Given the description of an element on the screen output the (x, y) to click on. 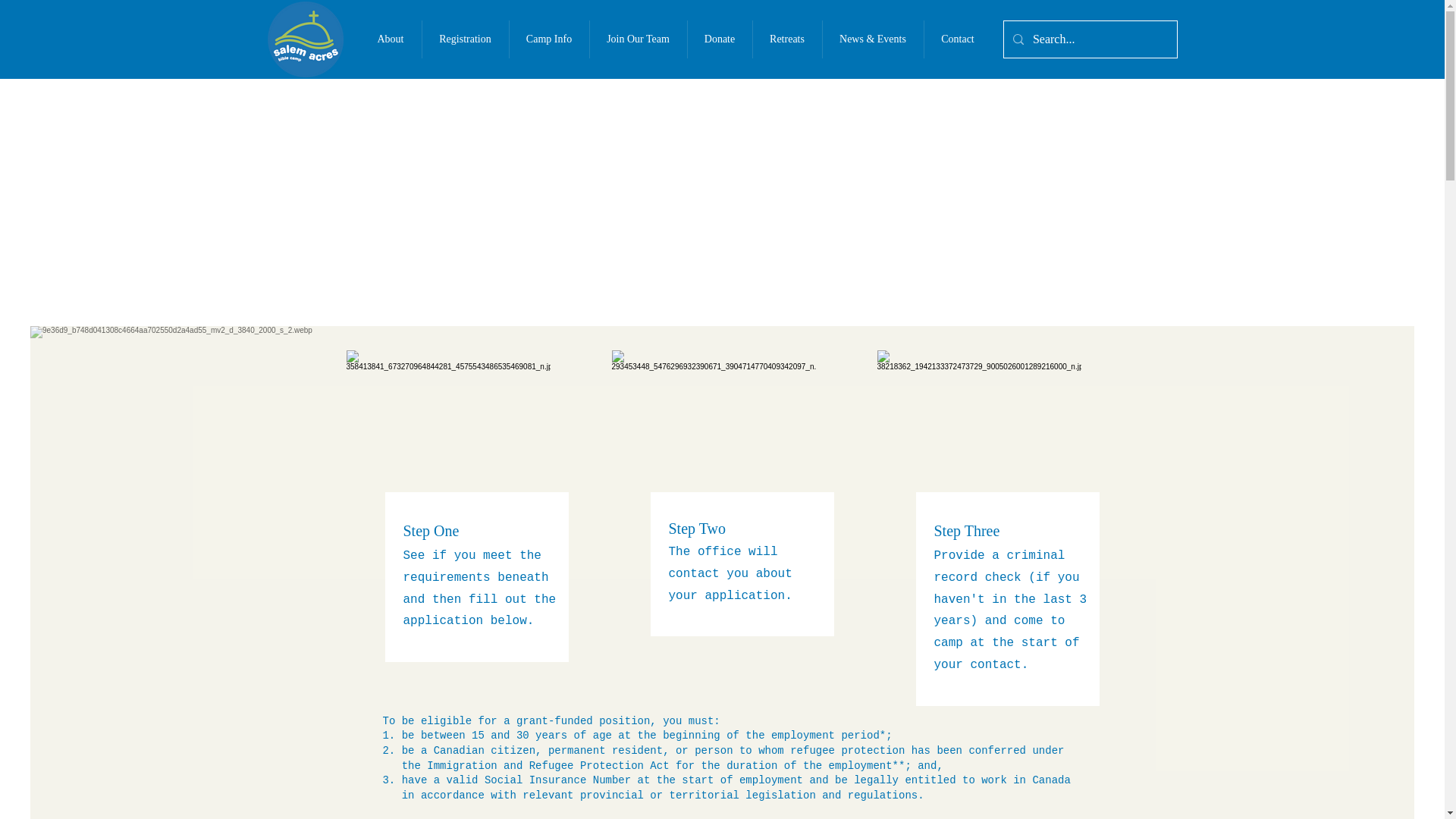
Camp Info (548, 39)
Join Our Team (636, 39)
Donate (719, 39)
Contact (957, 39)
About (389, 39)
Retreats (787, 39)
Registration (465, 39)
